Given the description of an element on the screen output the (x, y) to click on. 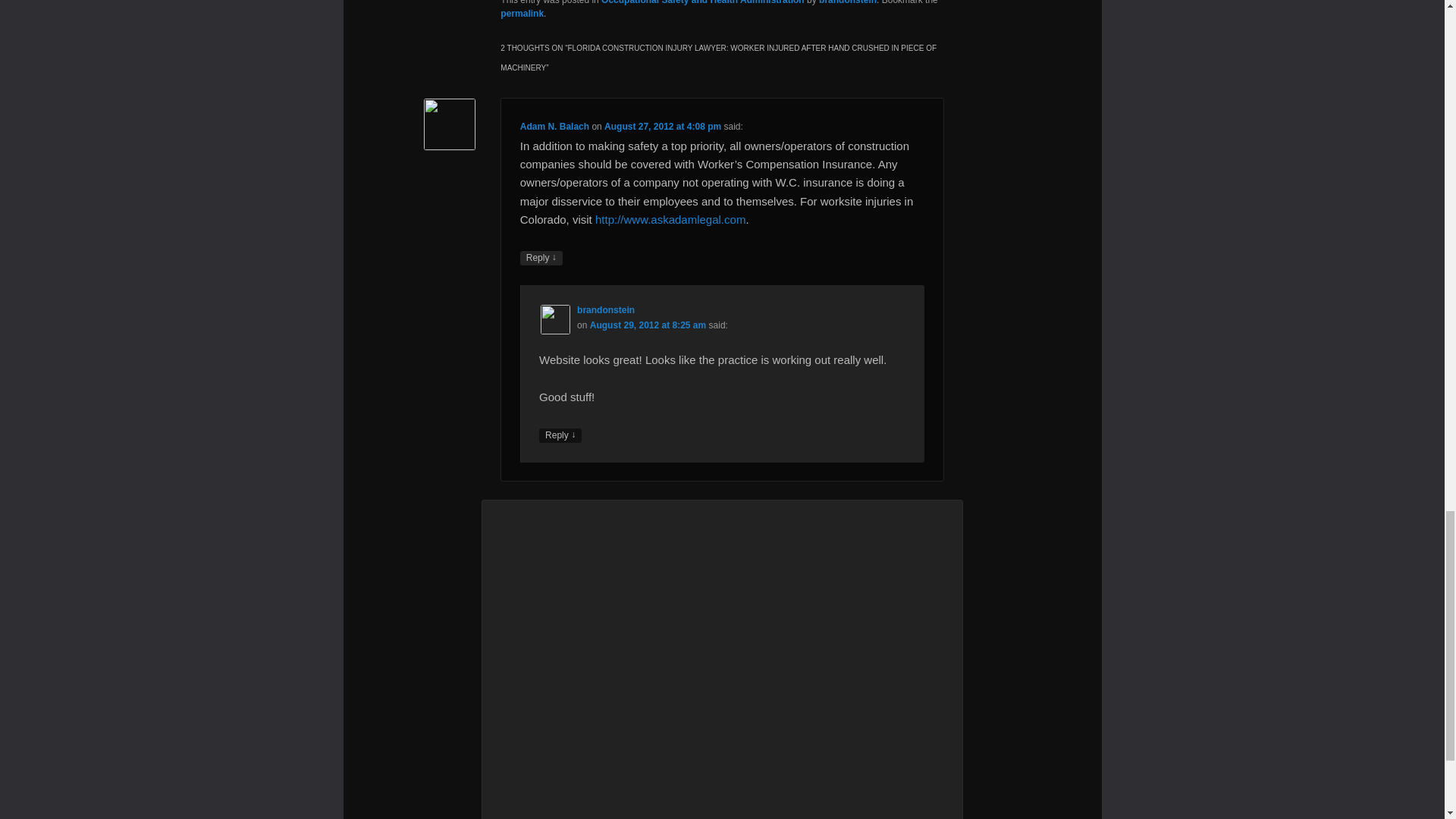
Occupational Safety and Health Administration (703, 2)
August 27, 2012 at 4:08 pm (662, 126)
Adam N. Balach (554, 126)
brandonstein (605, 309)
permalink (521, 13)
August 29, 2012 at 8:25 am (647, 325)
brandonstein (847, 2)
